Given the description of an element on the screen output the (x, y) to click on. 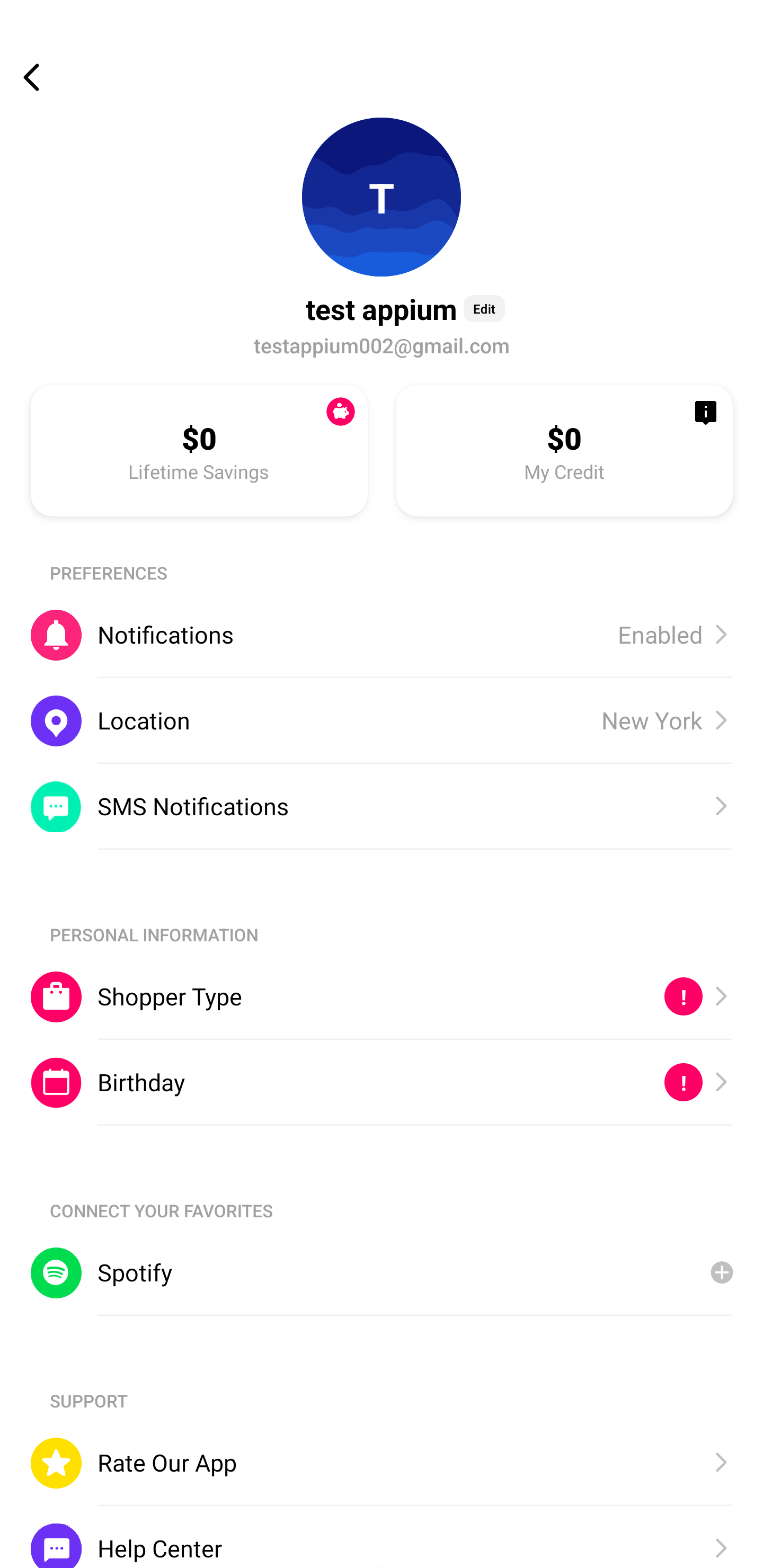
T (381, 196)
Edit (484, 307)
$0, Lifetime Savings $0 Lifetime Savings (198, 449)
$0, My Credit $0 My Credit (563, 449)
Location, New York Location New York (381, 720)
SMS Notifications,    SMS Notifications    (381, 806)
Shopper Type,   , ! Shopper Type    ! (381, 996)
Birthday,   , ! Birthday    ! (381, 1082)
Spotify,    Spotify    (381, 1272)
Rate Our App,    Rate Our App    (381, 1462)
Help Center,    Help Center    (381, 1536)
